Given the description of an element on the screen output the (x, y) to click on. 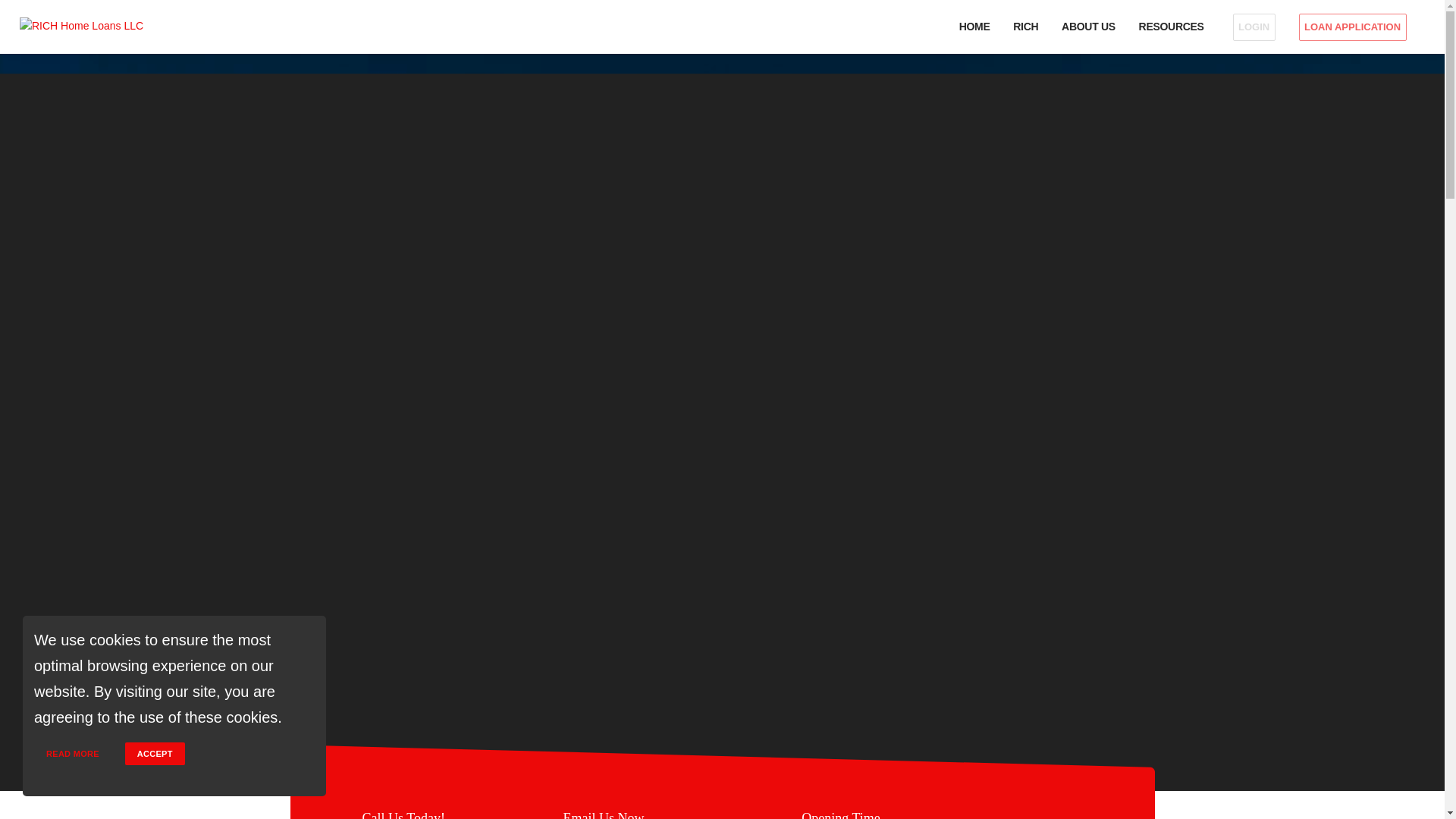
LOAN APPLICATION (1352, 26)
HOME (974, 27)
LOAN APPLICATION (1356, 27)
LOGIN (1253, 27)
LOGIN (1254, 26)
RESOURCES   (1173, 27)
ABOUT US (1088, 27)
